Given the description of an element on the screen output the (x, y) to click on. 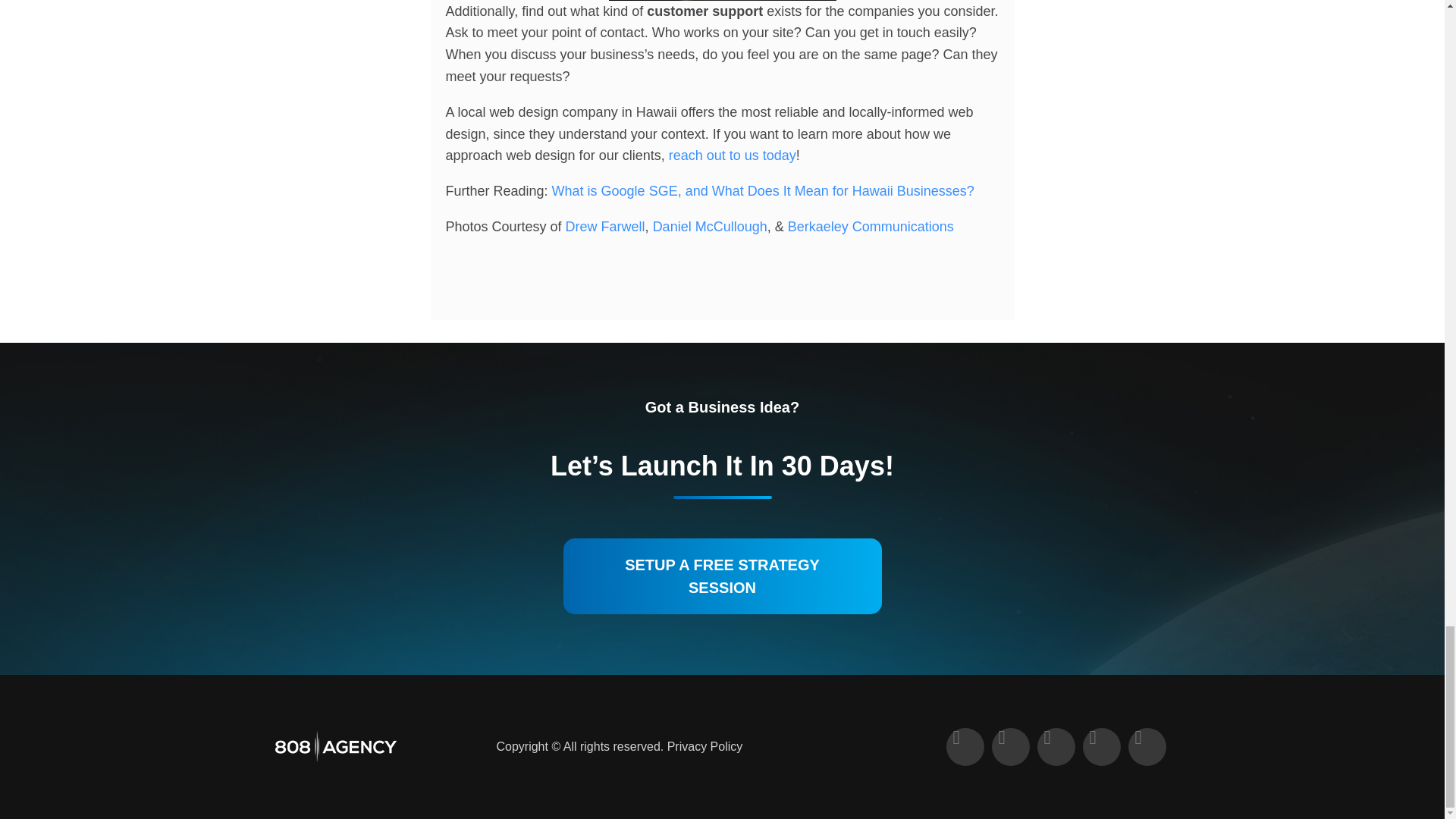
reach out to us today (732, 155)
Drew Farwell (605, 226)
Daniel McCullough (709, 226)
SETUP A FREE STRATEGY SESSION (721, 576)
Berkaeley Communications (870, 226)
